Given the description of an element on the screen output the (x, y) to click on. 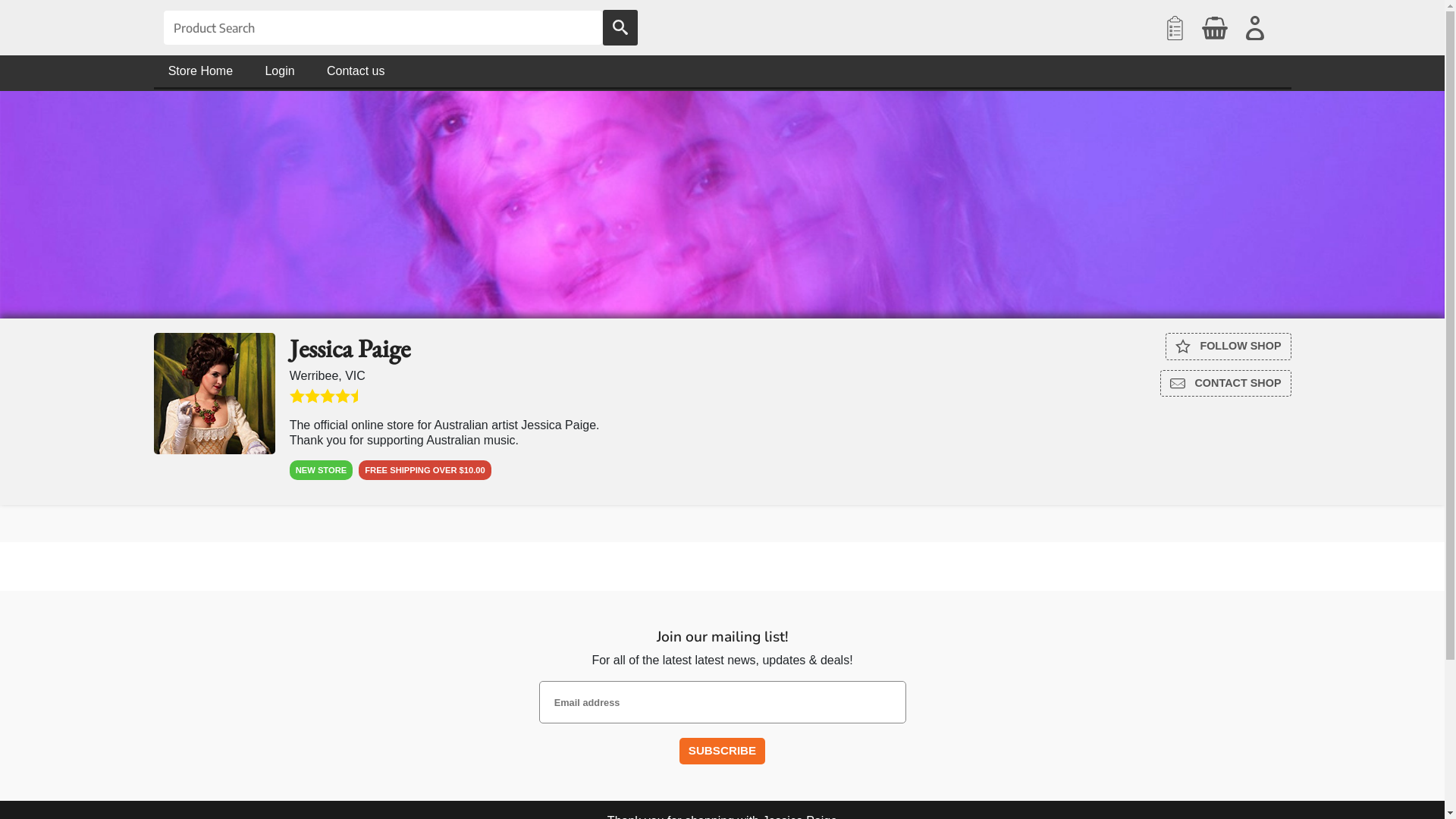
Subscribe Element type: text (722, 750)
CONTACT SHOP Element type: text (1225, 383)
Contact us Element type: text (355, 71)
FOLLOW SHOP Element type: text (1228, 346)
Login Element type: text (279, 71)
Jessica Paige Element type: hover (213, 394)
Store Home Element type: text (200, 71)
